Given the description of an element on the screen output the (x, y) to click on. 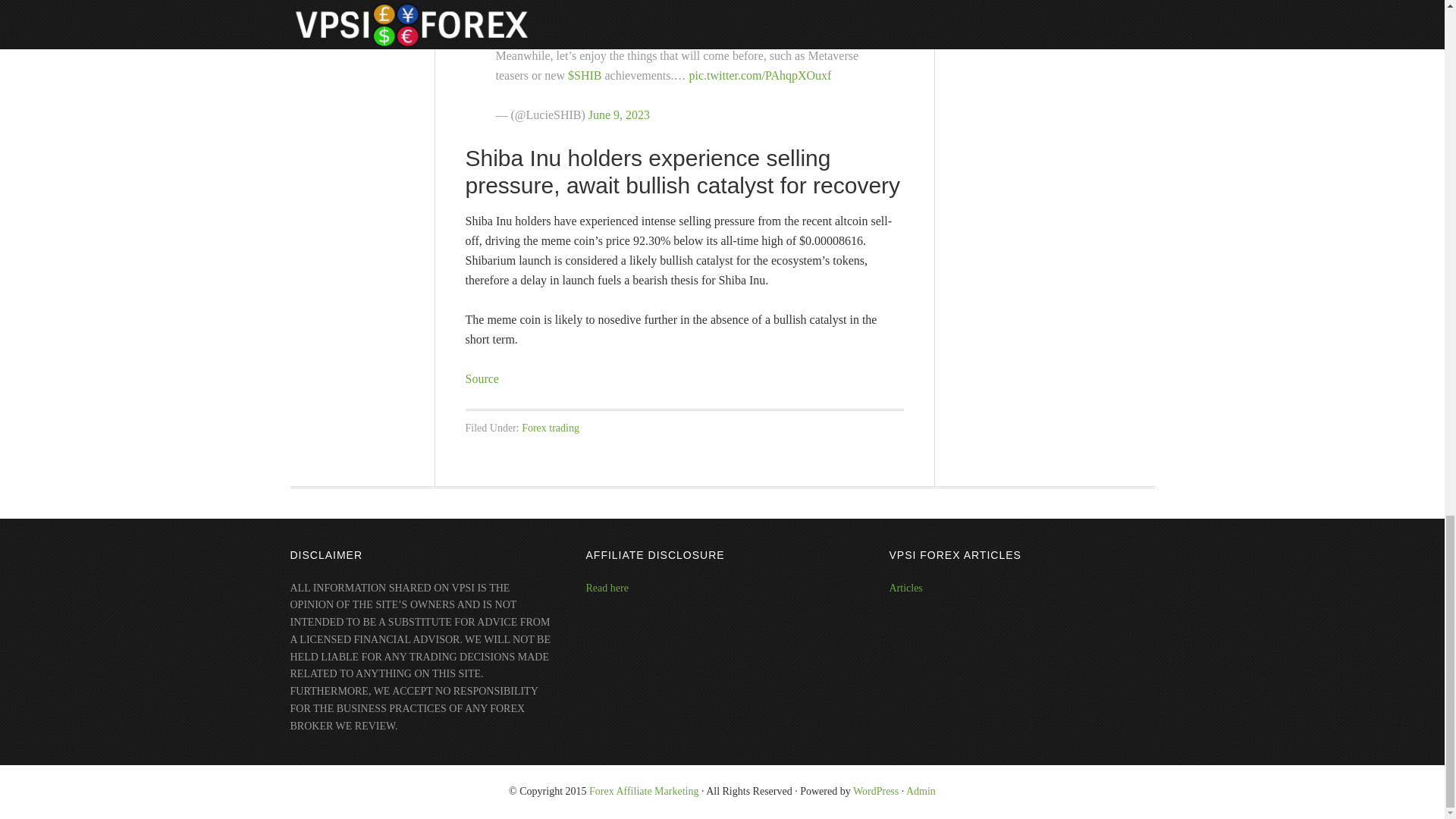
Forex Affiliate Marketing (643, 790)
Admin (920, 790)
Read here (606, 587)
June 9, 2023 (618, 114)
WordPress (875, 790)
Articles (904, 587)
Source (482, 378)
Forex trading (550, 428)
